Given the description of an element on the screen output the (x, y) to click on. 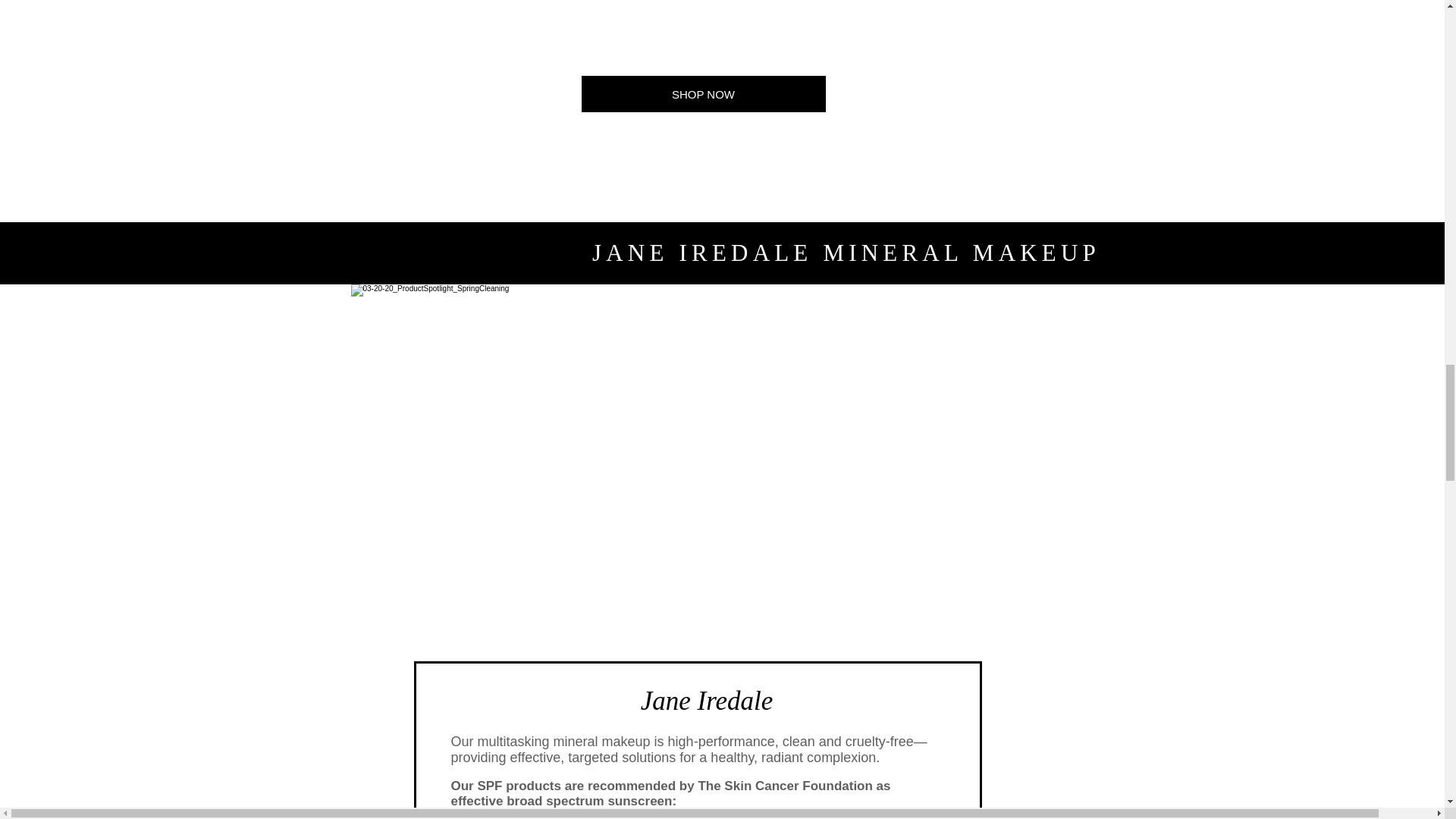
sdermalogica.jpg (492, 18)
SHOP NOW (702, 94)
HealingHands-31.jpg (764, 18)
